Given the description of an element on the screen output the (x, y) to click on. 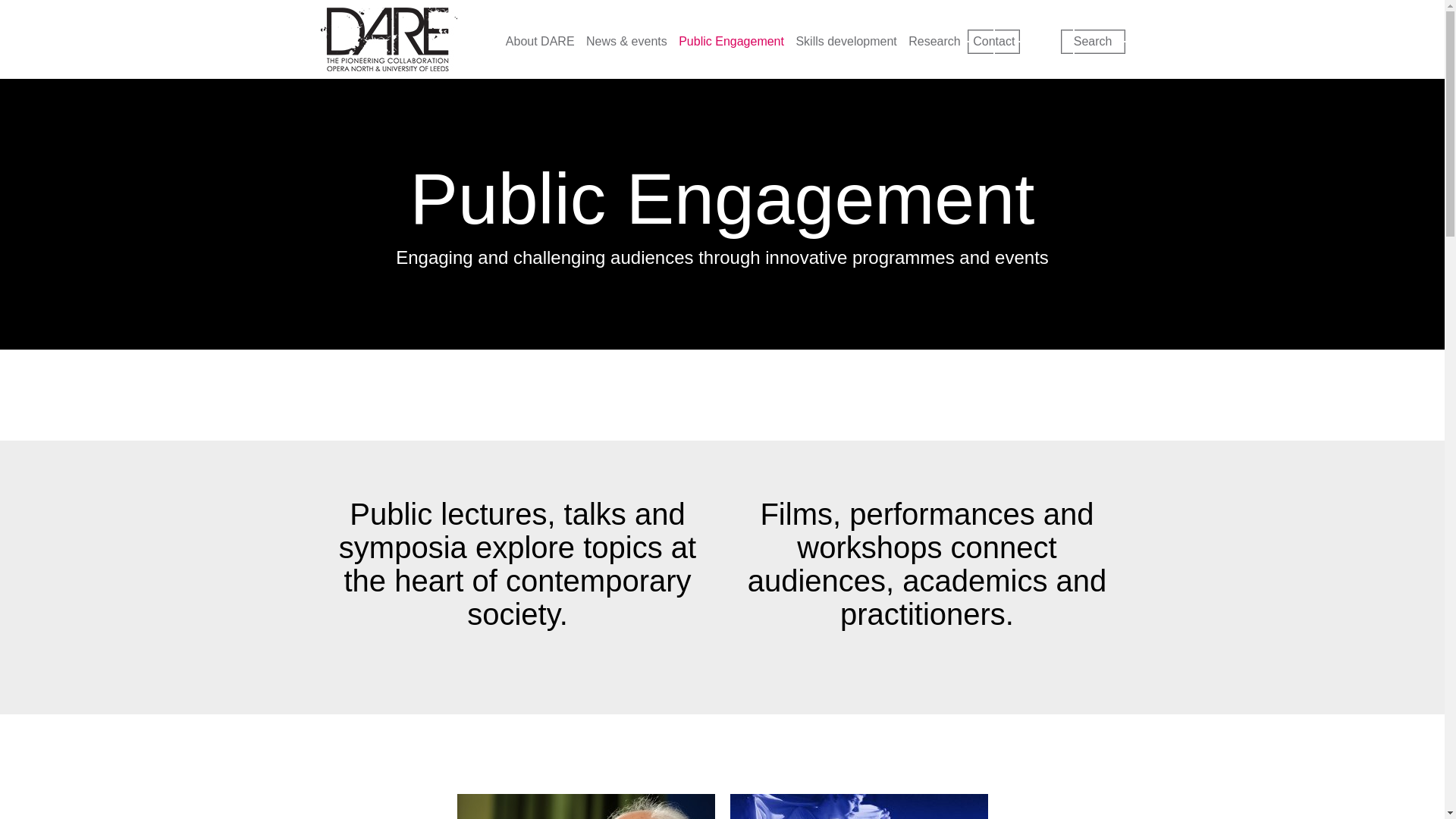
Skills development (845, 41)
Public Engagement (731, 41)
Contact (993, 41)
About DARE (540, 41)
Search (1092, 41)
Research (933, 41)
